Given the description of an element on the screen output the (x, y) to click on. 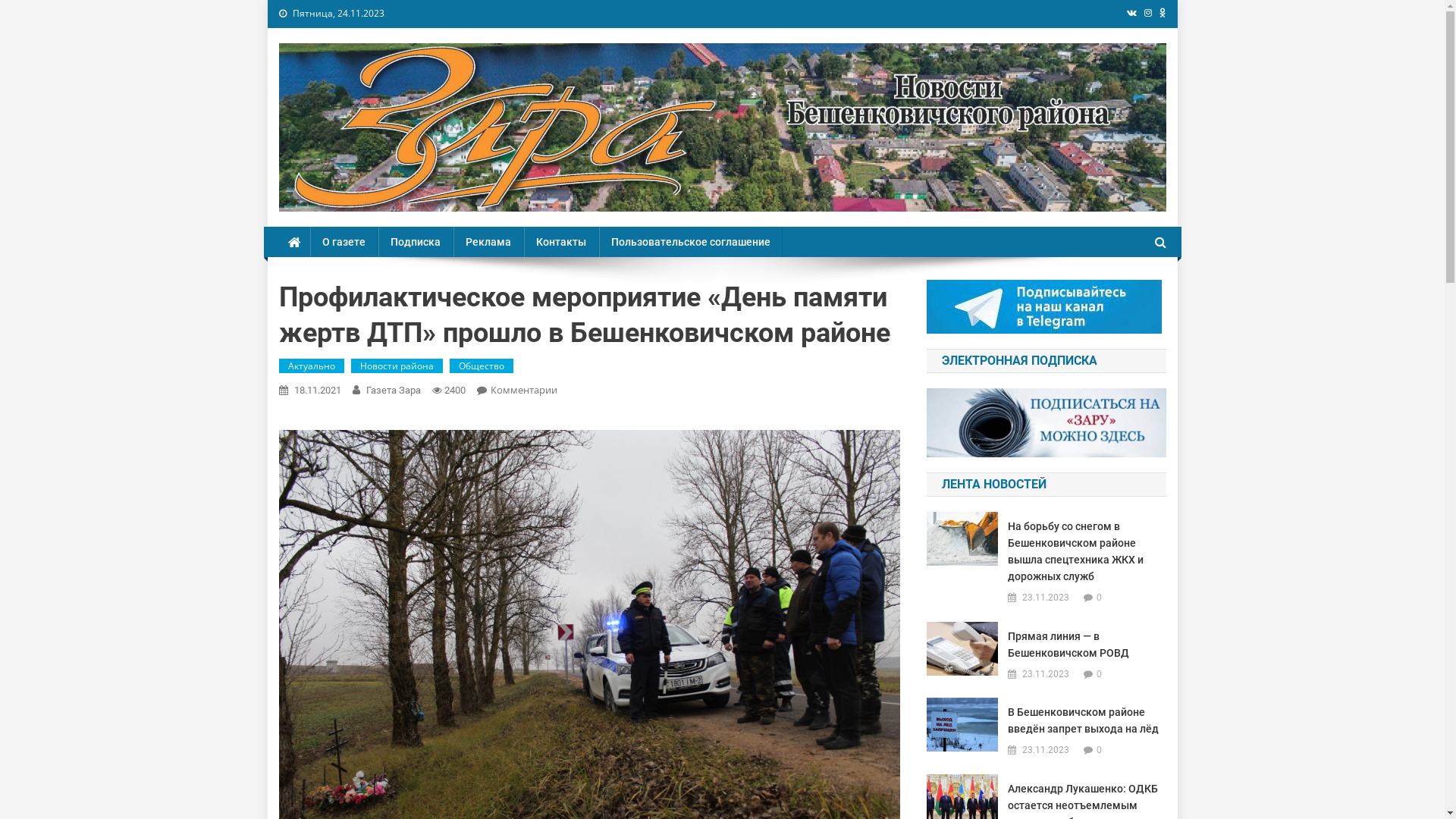
18.11.2021 Element type: text (317, 389)
23.11.2023 Element type: text (1045, 674)
23.11.2023 Element type: text (1045, 597)
0 Element type: text (1098, 596)
0 Element type: text (1098, 749)
23.11.2023 Element type: text (1045, 750)
0 Element type: text (1098, 673)
